Given the description of an element on the screen output the (x, y) to click on. 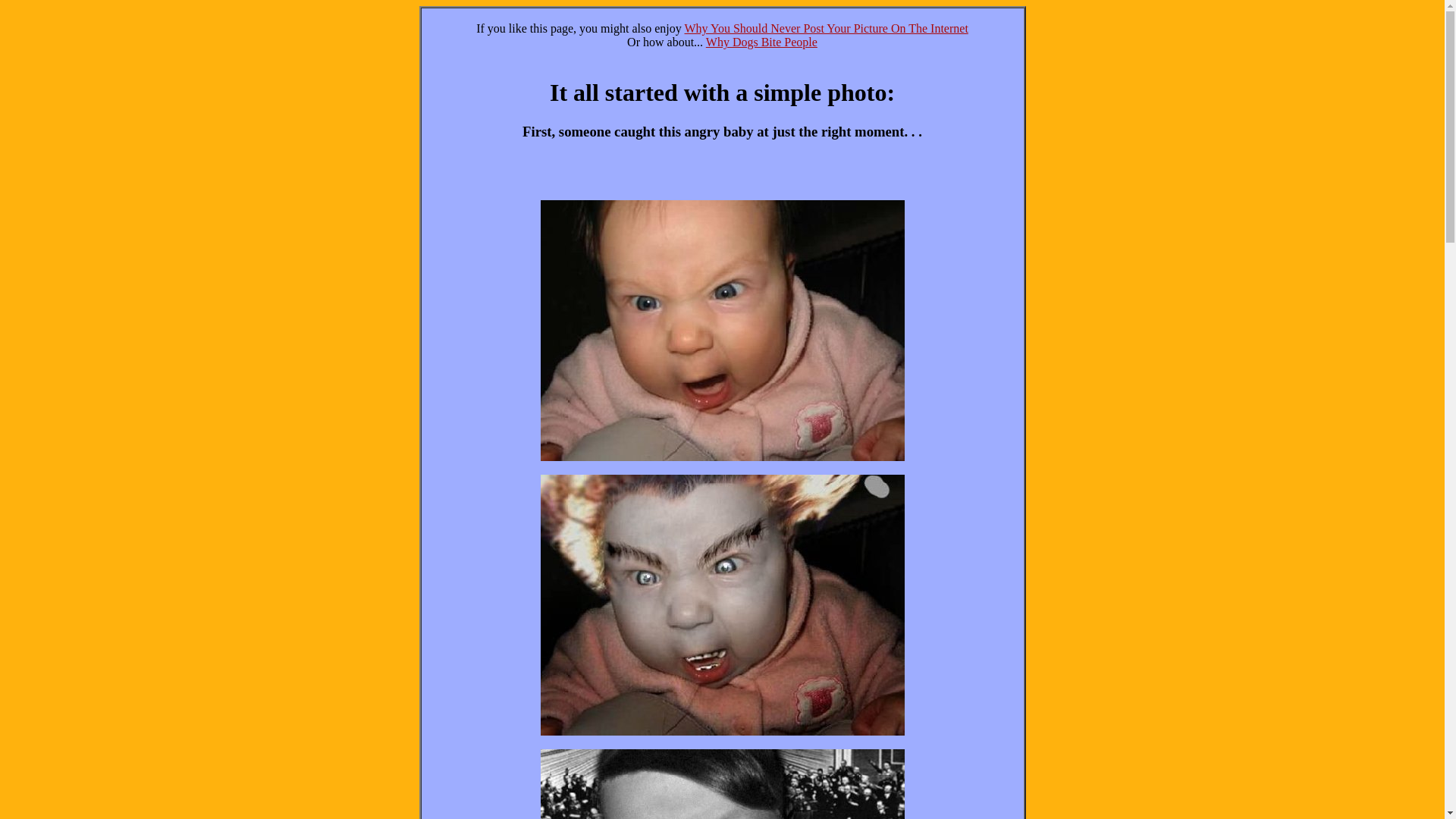
Why You Should Never Post Your Picture On The Internet Element type: text (825, 27)
Advertisement Element type: hover (721, 177)
Why Dogs Bite People Element type: text (761, 41)
